Given the description of an element on the screen output the (x, y) to click on. 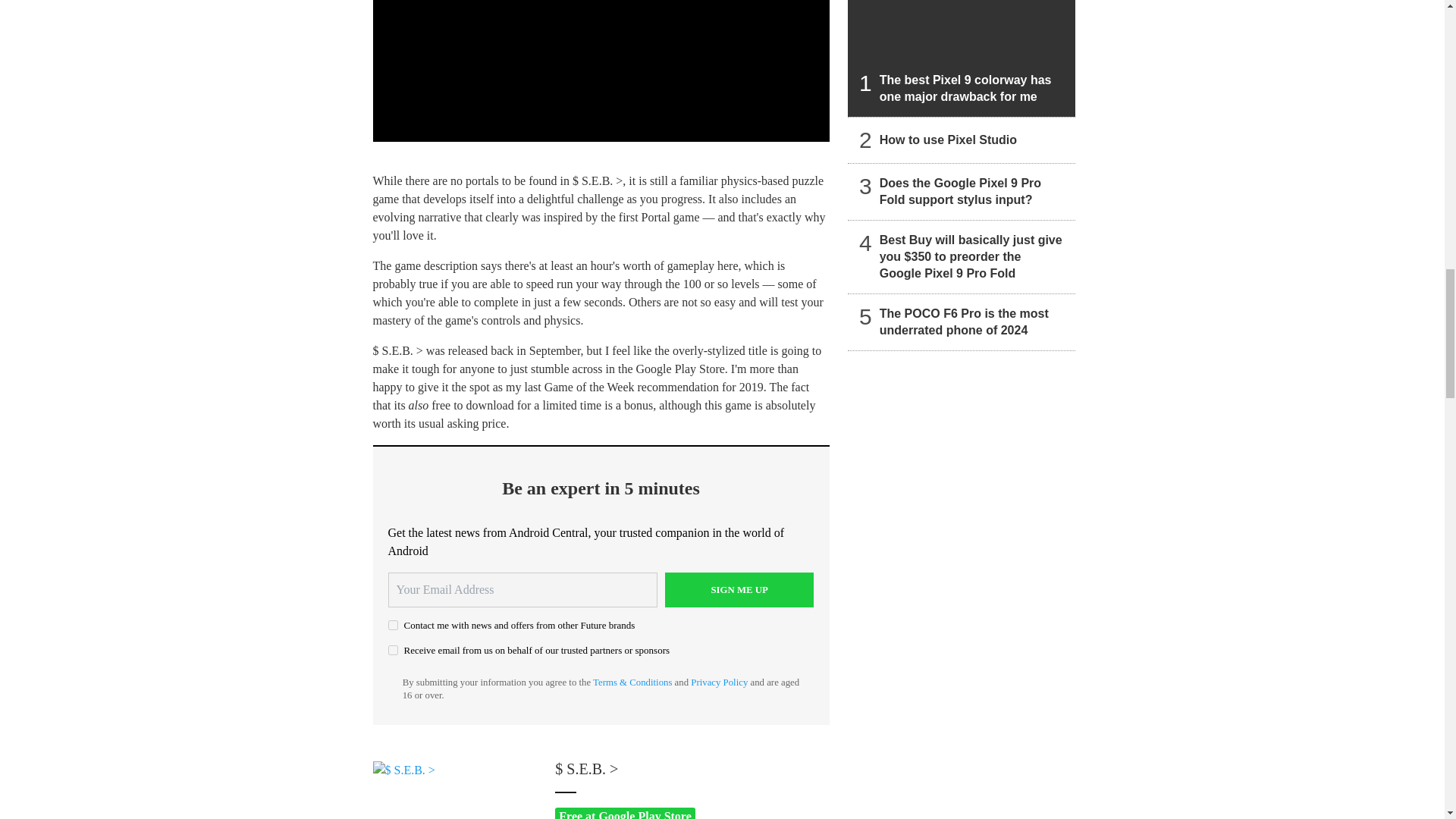
The best Pixel 9 colorway has one major drawback for me (961, 58)
on (392, 650)
Sign me up (739, 589)
on (392, 624)
